Given the description of an element on the screen output the (x, y) to click on. 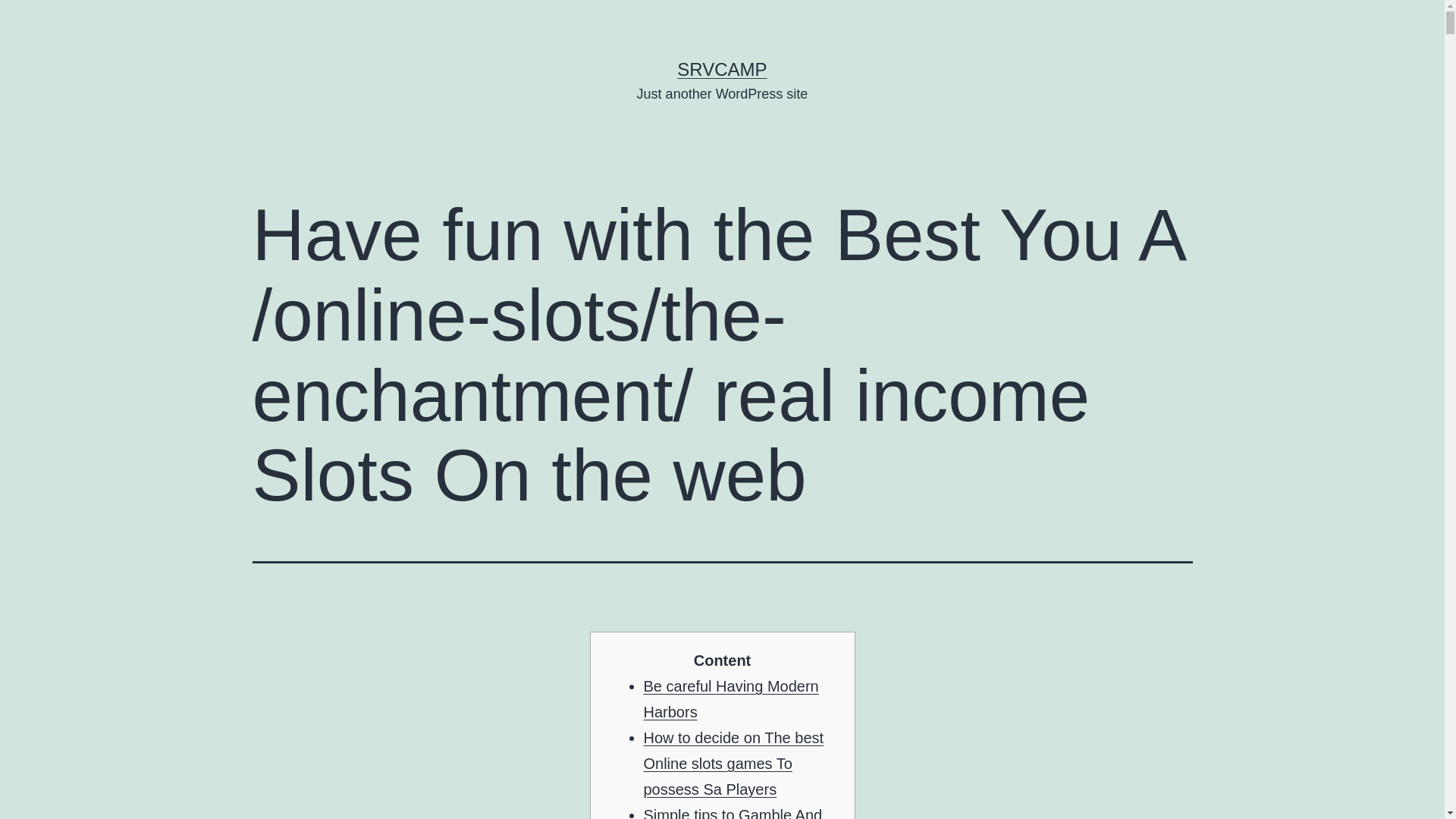
Be careful Having Modern Harbors (730, 699)
Simple tips to Gamble And you will Victory Real cash Slots (732, 812)
SRVCAMP (722, 68)
